Given the description of an element on the screen output the (x, y) to click on. 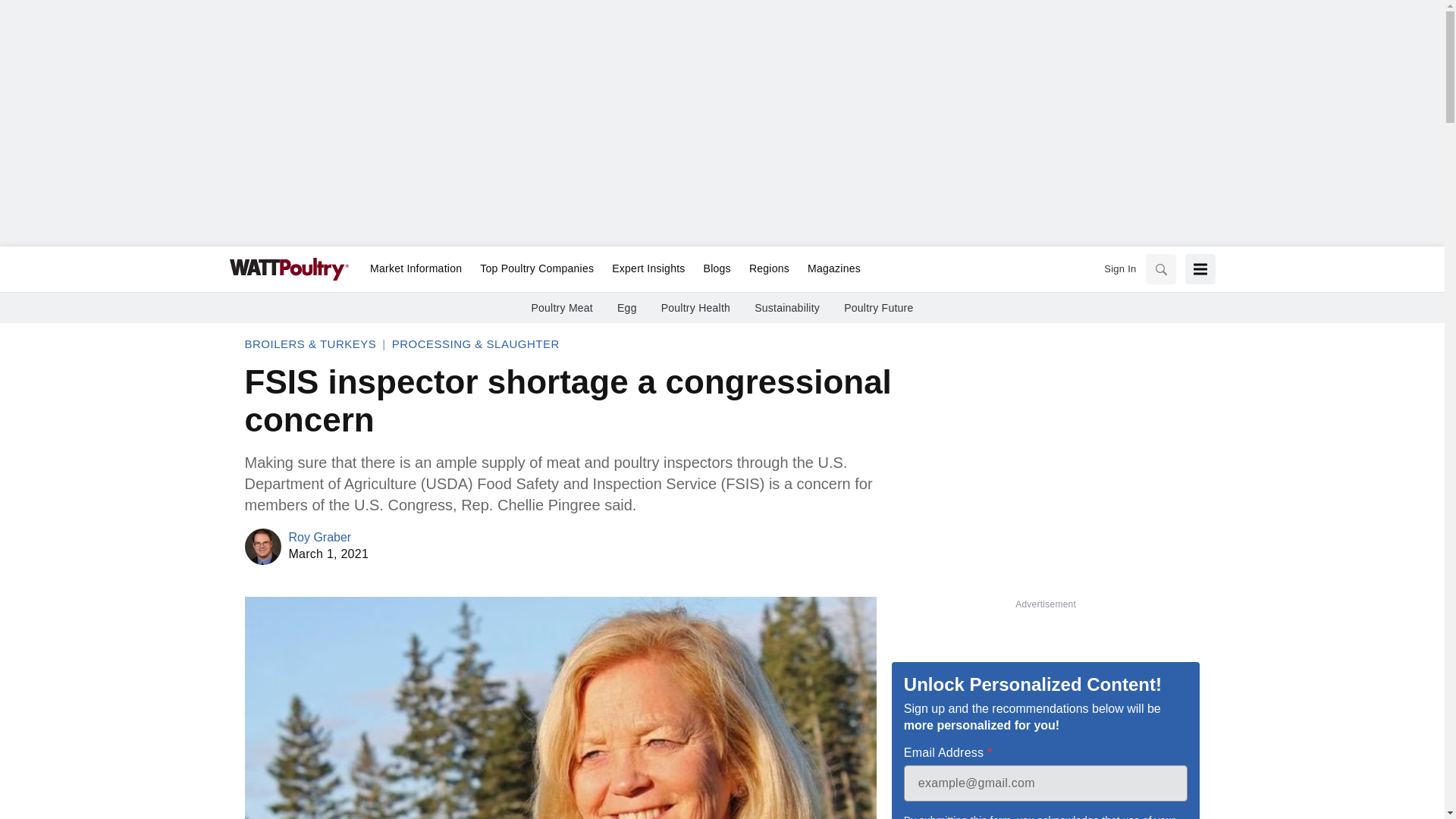
Regions (768, 269)
Poultry Future (878, 307)
Magazines (828, 269)
Sustainability (786, 307)
Poultry Health (695, 307)
Market Information (415, 269)
Sign In (1119, 268)
Egg (627, 307)
Top Poultry Companies (536, 269)
Expert Insights (648, 269)
Blogs (716, 269)
Poultry Meat (561, 307)
